Given the description of an element on the screen output the (x, y) to click on. 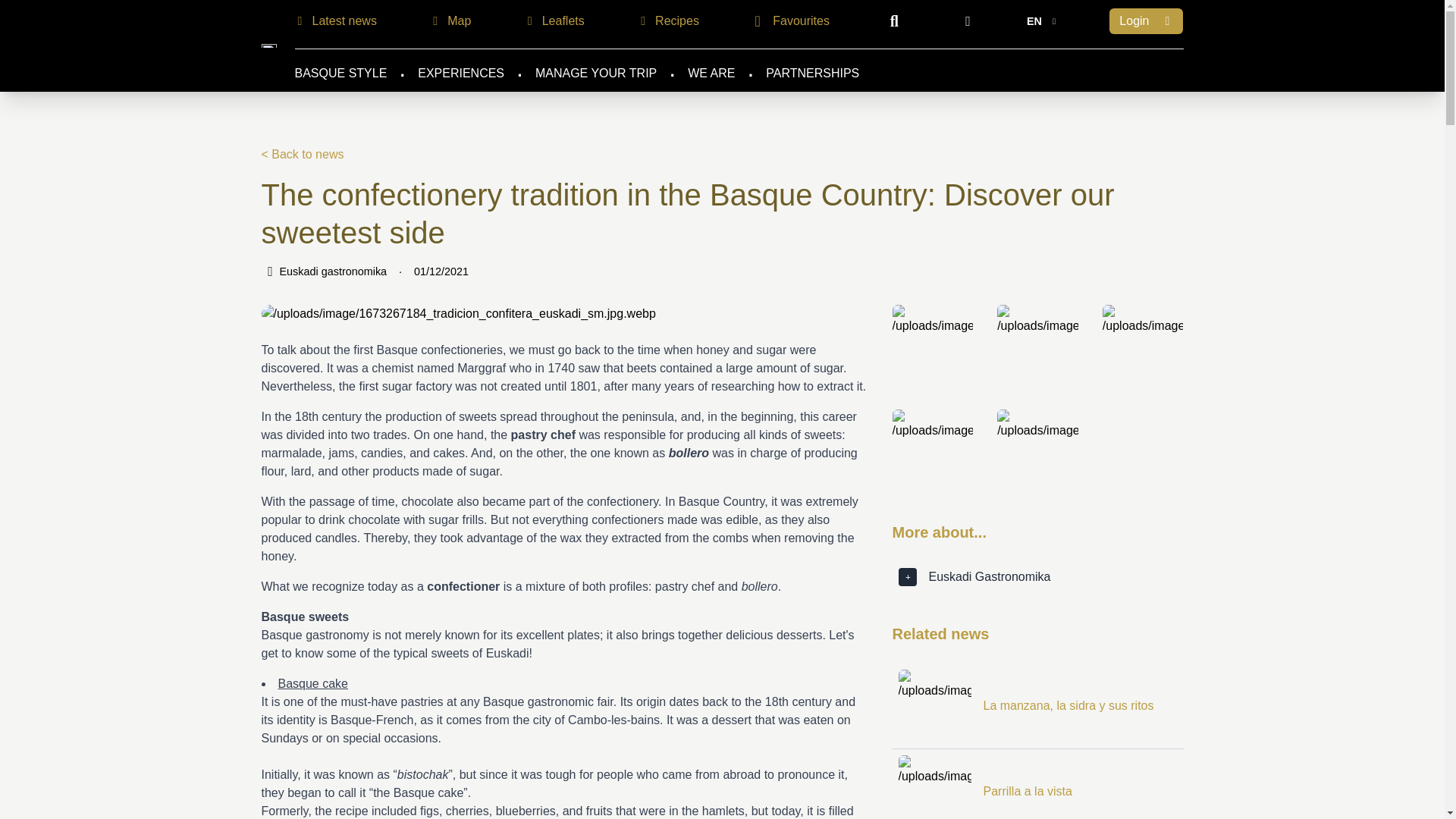
Leaflets (553, 21)
Map (448, 21)
Recipes (665, 21)
Euskadi Gastronomika (268, 45)
Latest news (334, 20)
Latest news (334, 21)
Recipes (665, 20)
Favourites (788, 20)
Map (448, 20)
Leaflets (553, 20)
Favourites (788, 21)
